Given the description of an element on the screen output the (x, y) to click on. 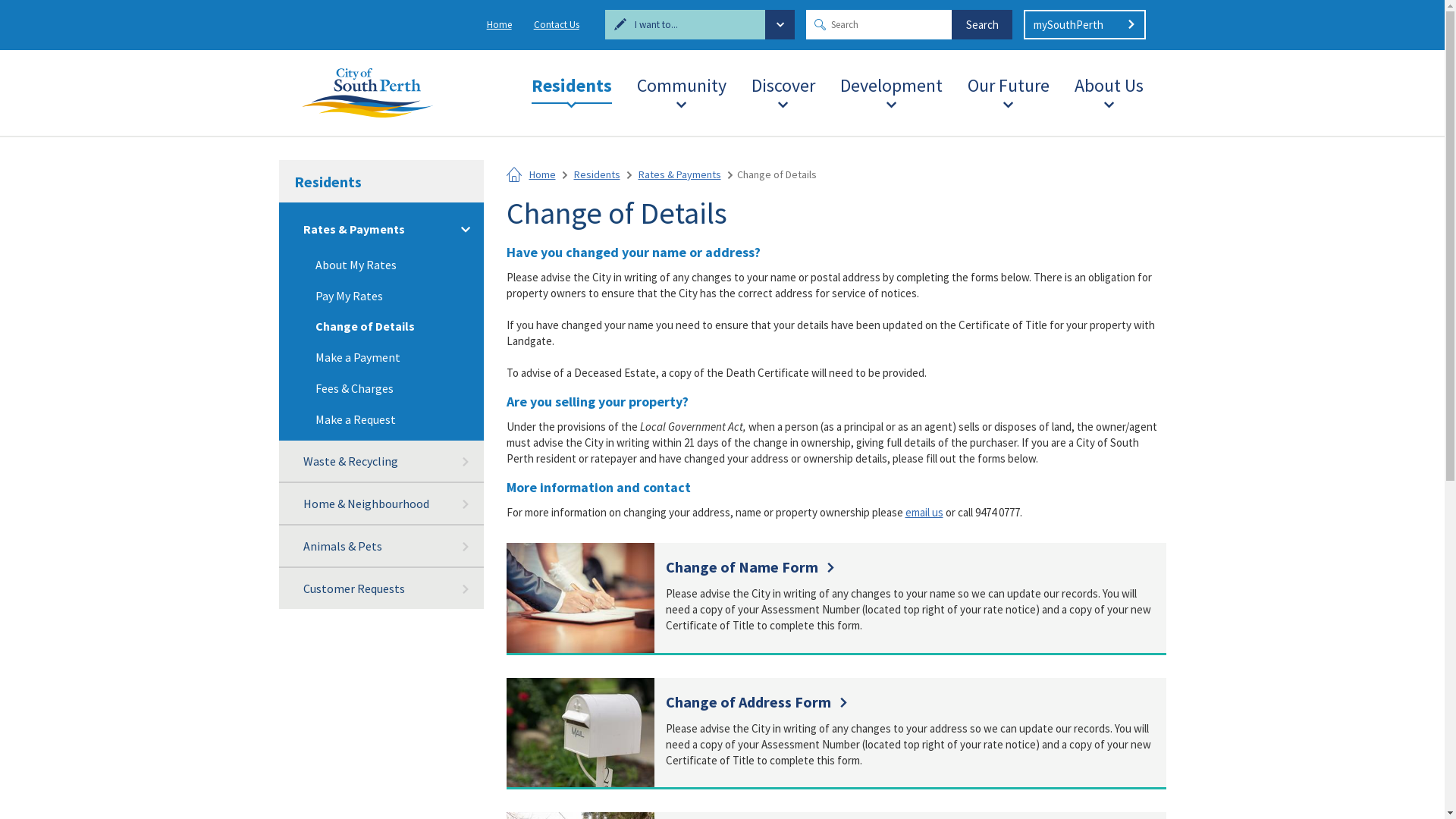
Discover Element type: text (782, 82)
Animals & Pets Element type: text (381, 546)
Fees & Charges Element type: text (381, 387)
Rates & Payments Element type: text (381, 228)
Home & Neighbourhood Element type: text (381, 504)
email us Element type: text (924, 512)
Residents Element type: text (596, 174)
Contact Us Element type: text (556, 24)
Community Element type: text (681, 82)
Search input Element type: hover (909, 24)
Development Element type: text (891, 82)
Change of Details Element type: text (381, 325)
Home Element type: text (542, 174)
Home Element type: text (513, 174)
Rates & Payments Element type: text (679, 174)
Our Future Element type: text (1008, 82)
Search Element type: text (981, 24)
Waste & Recycling Element type: text (381, 461)
About Us Element type: text (1107, 82)
Home Element type: text (498, 24)
Residents Element type: text (381, 181)
Make a Request Element type: text (381, 418)
Pay My Rates Element type: text (381, 295)
Residents Element type: text (570, 82)
Make a Payment Element type: text (381, 356)
About My Rates Element type: text (381, 264)
Customer Requests Element type: text (381, 587)
mySouthPerth Element type: text (1084, 24)
